Given the description of an element on the screen output the (x, y) to click on. 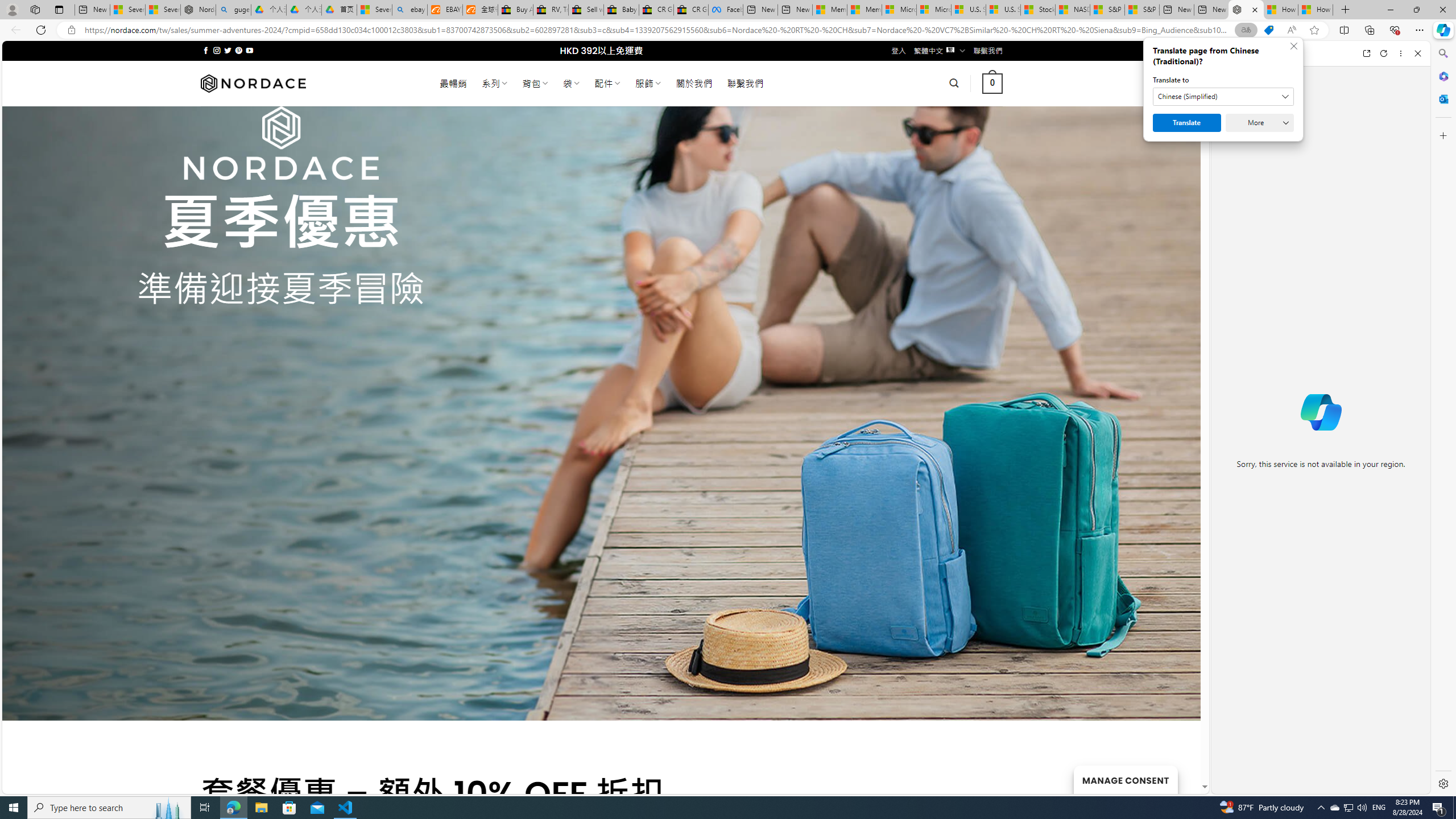
Outlook (1442, 98)
Follow on Facebook (205, 50)
Facebook (725, 9)
This site has coupons! Shopping in Microsoft Edge (1268, 29)
More (1259, 122)
  0   (992, 83)
Show translate options (1245, 29)
